Given the description of an element on the screen output the (x, y) to click on. 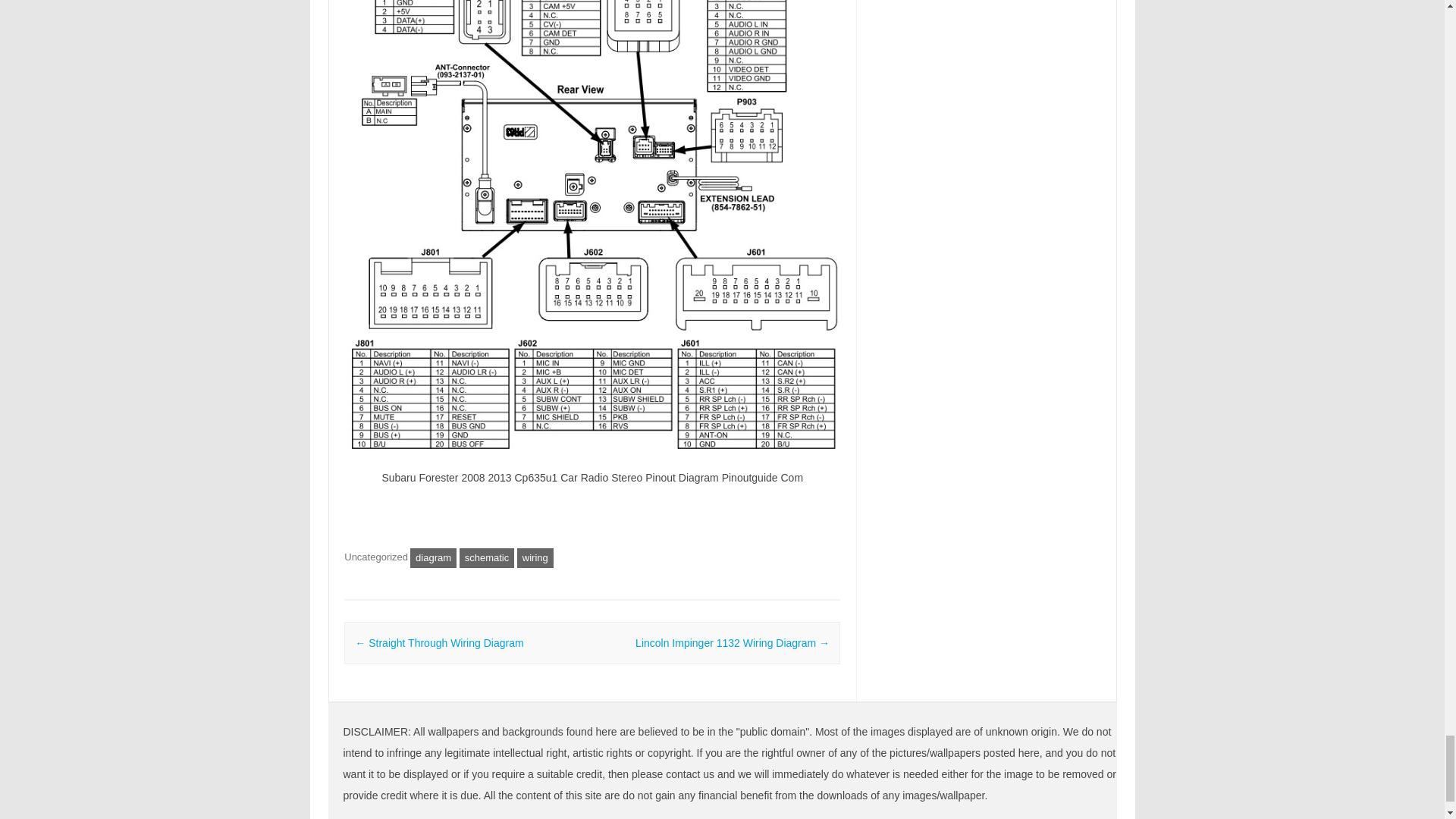
wiring (534, 557)
diagram (433, 557)
schematic (487, 557)
